Given the description of an element on the screen output the (x, y) to click on. 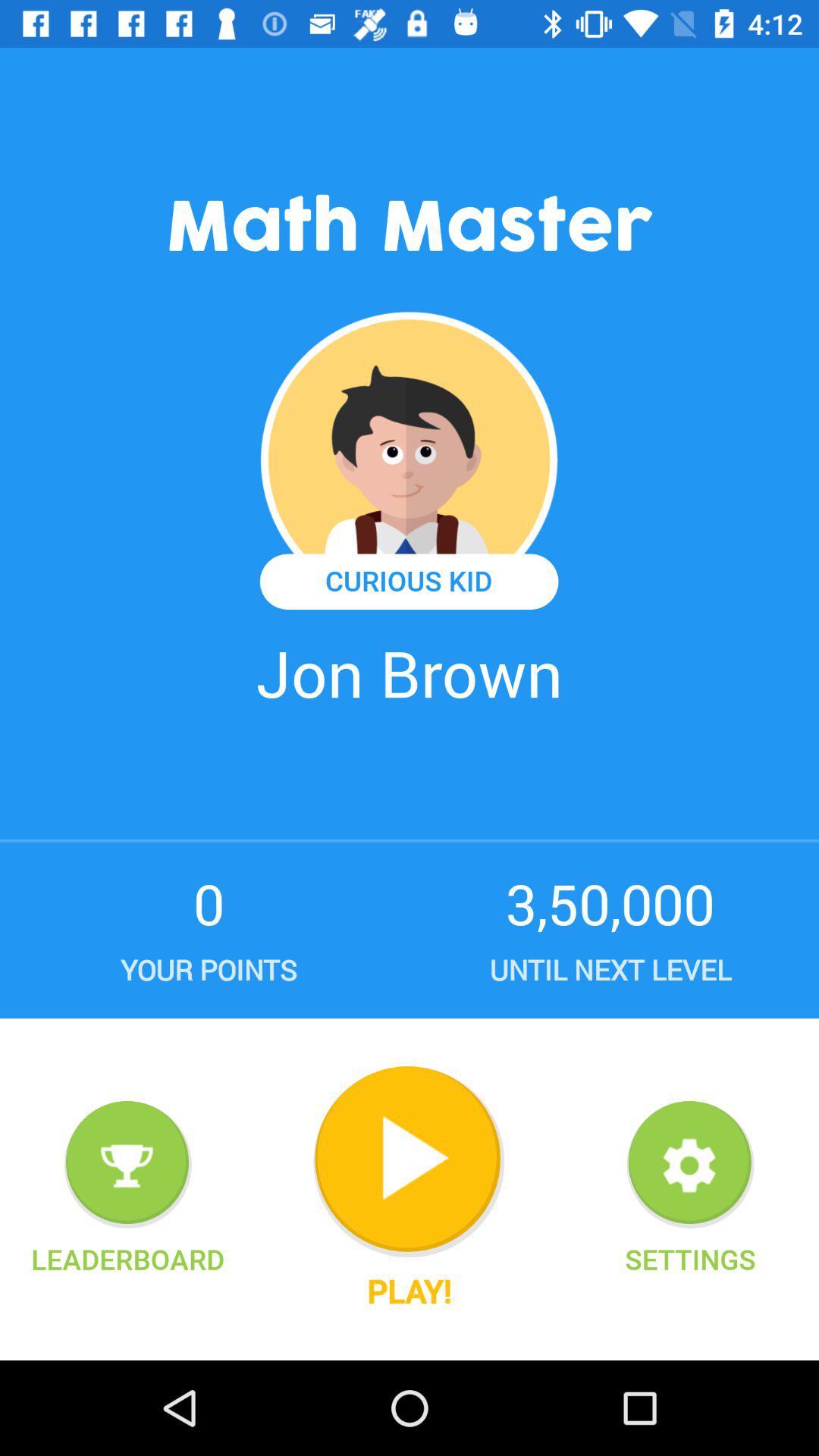
open leaderboard item (127, 1258)
